Given the description of an element on the screen output the (x, y) to click on. 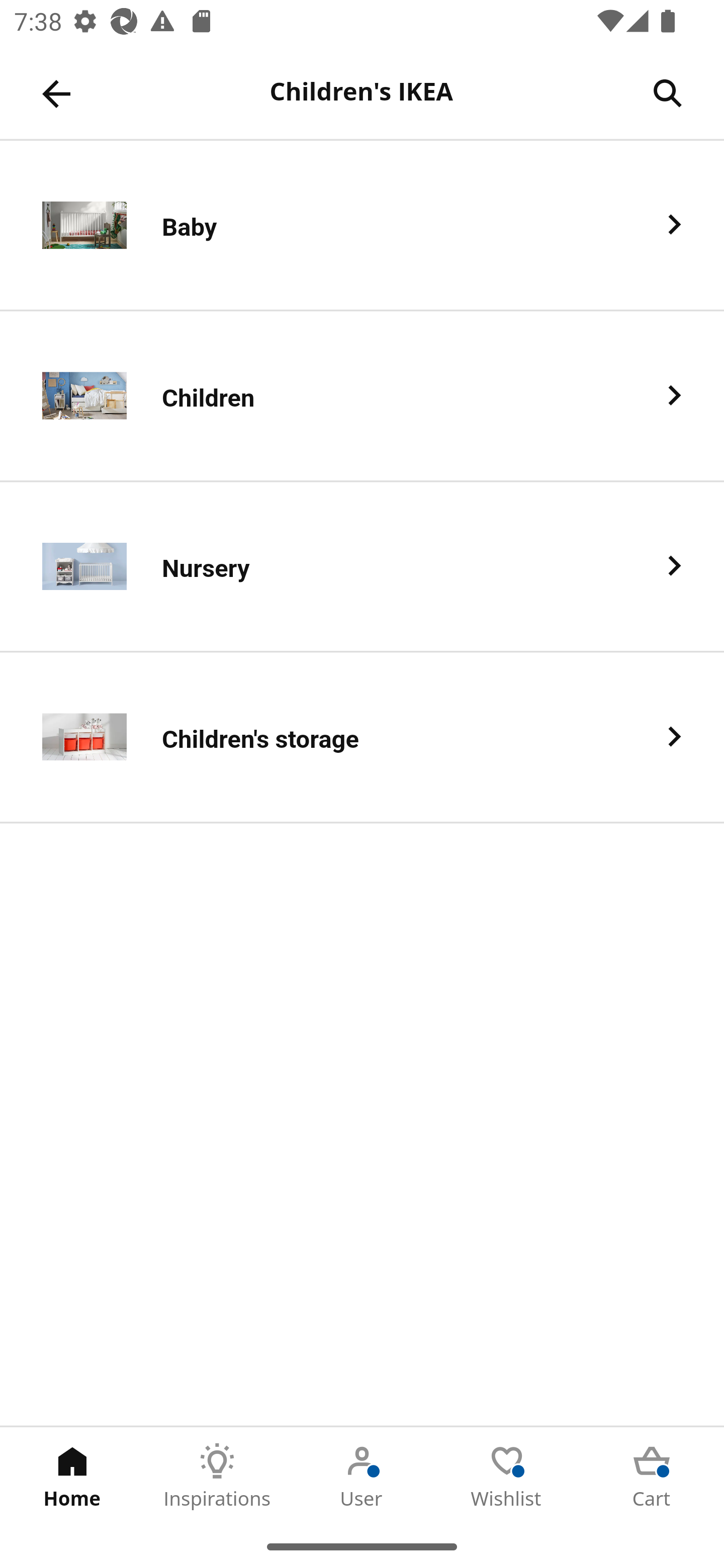
Baby (362, 226)
Children (362, 396)
Nursery (362, 566)
Children's storage (362, 737)
Home
Tab 1 of 5 (72, 1476)
Inspirations
Tab 2 of 5 (216, 1476)
User
Tab 3 of 5 (361, 1476)
Wishlist
Tab 4 of 5 (506, 1476)
Cart
Tab 5 of 5 (651, 1476)
